Given the description of an element on the screen output the (x, y) to click on. 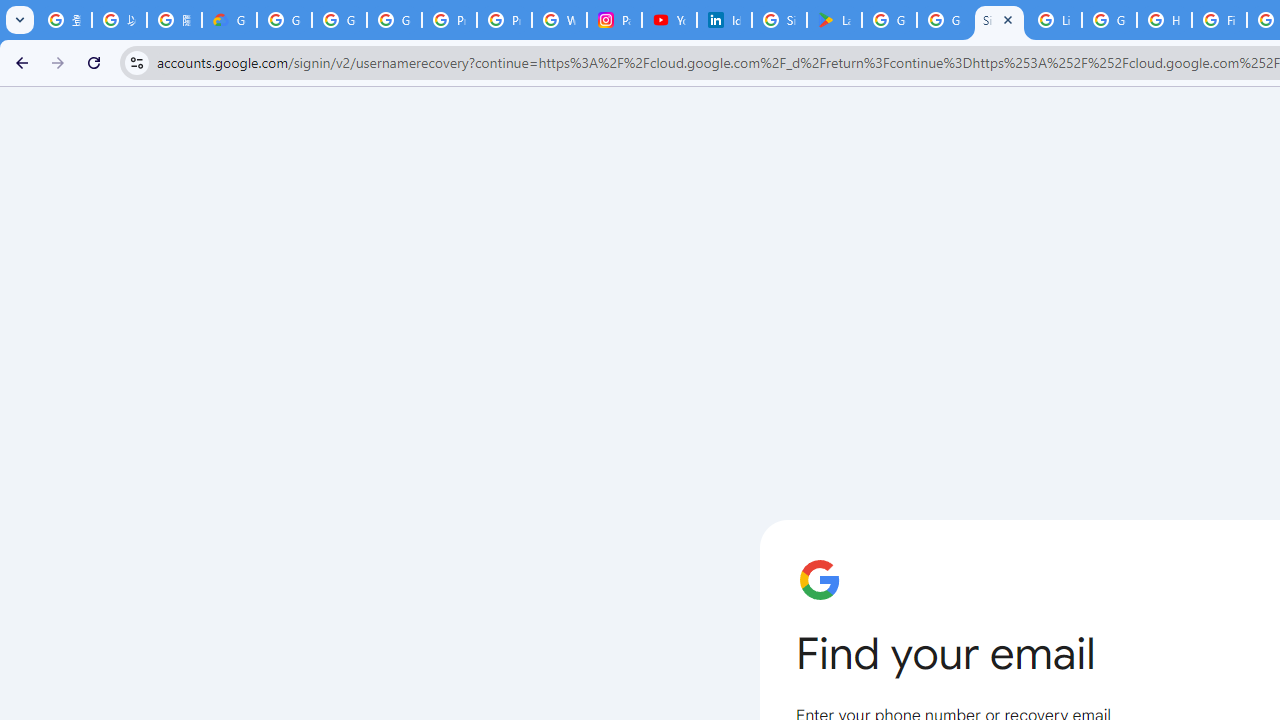
Sign in - Google Accounts (998, 20)
YouTube Culture & Trends - On The Rise: Handcam Videos (669, 20)
Identity verification via Persona | LinkedIn Help (724, 20)
